Given the description of an element on the screen output the (x, y) to click on. 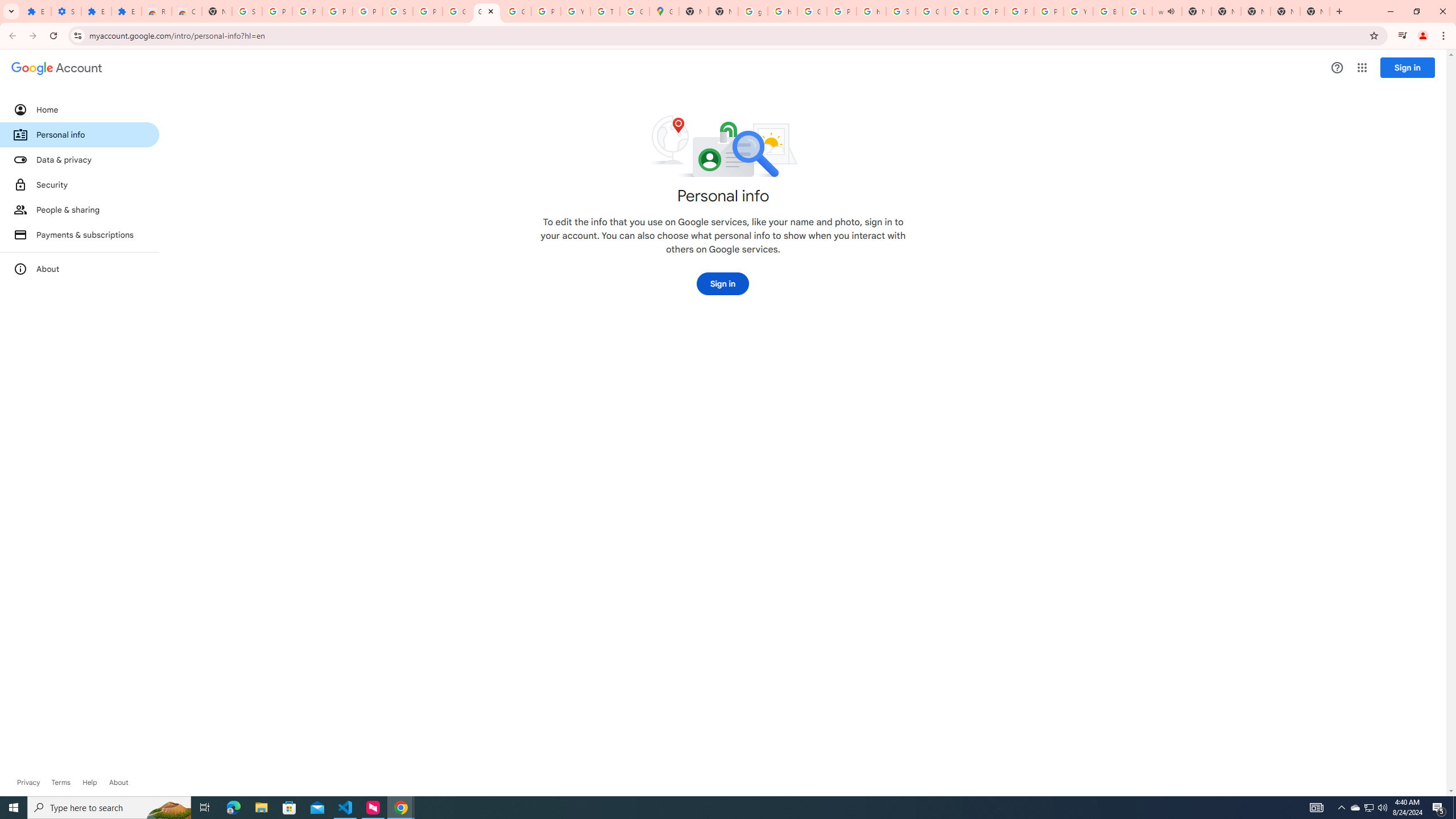
More information about the Google Account (79, 268)
Chrome Web Store - Themes (185, 11)
Google Account (486, 11)
Extensions (36, 11)
Sign in - Google Accounts (247, 11)
Google Account settings (56, 68)
Sign in - Google Accounts (900, 11)
